Given the description of an element on the screen output the (x, y) to click on. 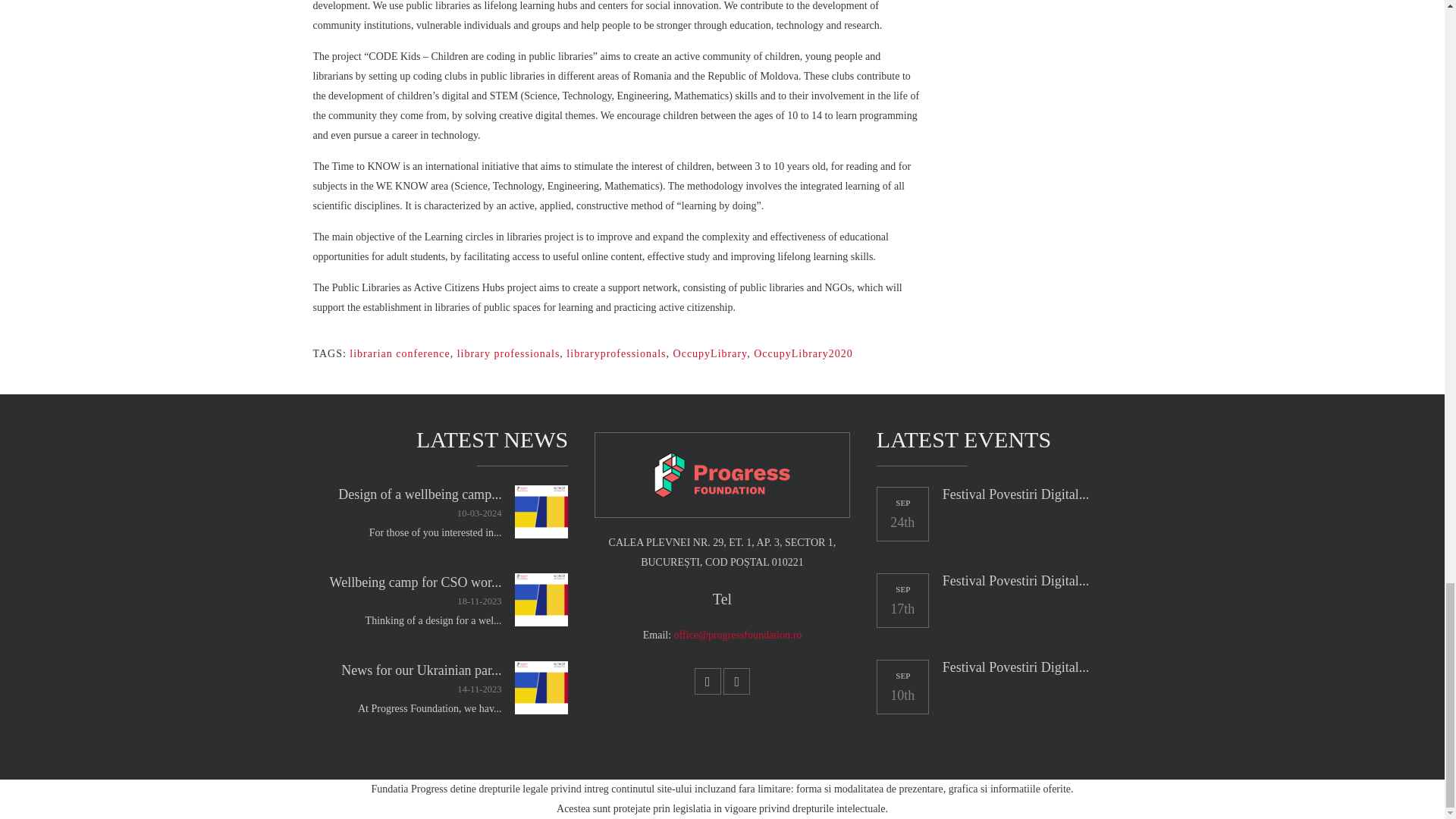
libraryprofessionals (615, 353)
library professionals (508, 353)
OccupyLibrary (710, 353)
librarian conference (399, 353)
